Given the description of an element on the screen output the (x, y) to click on. 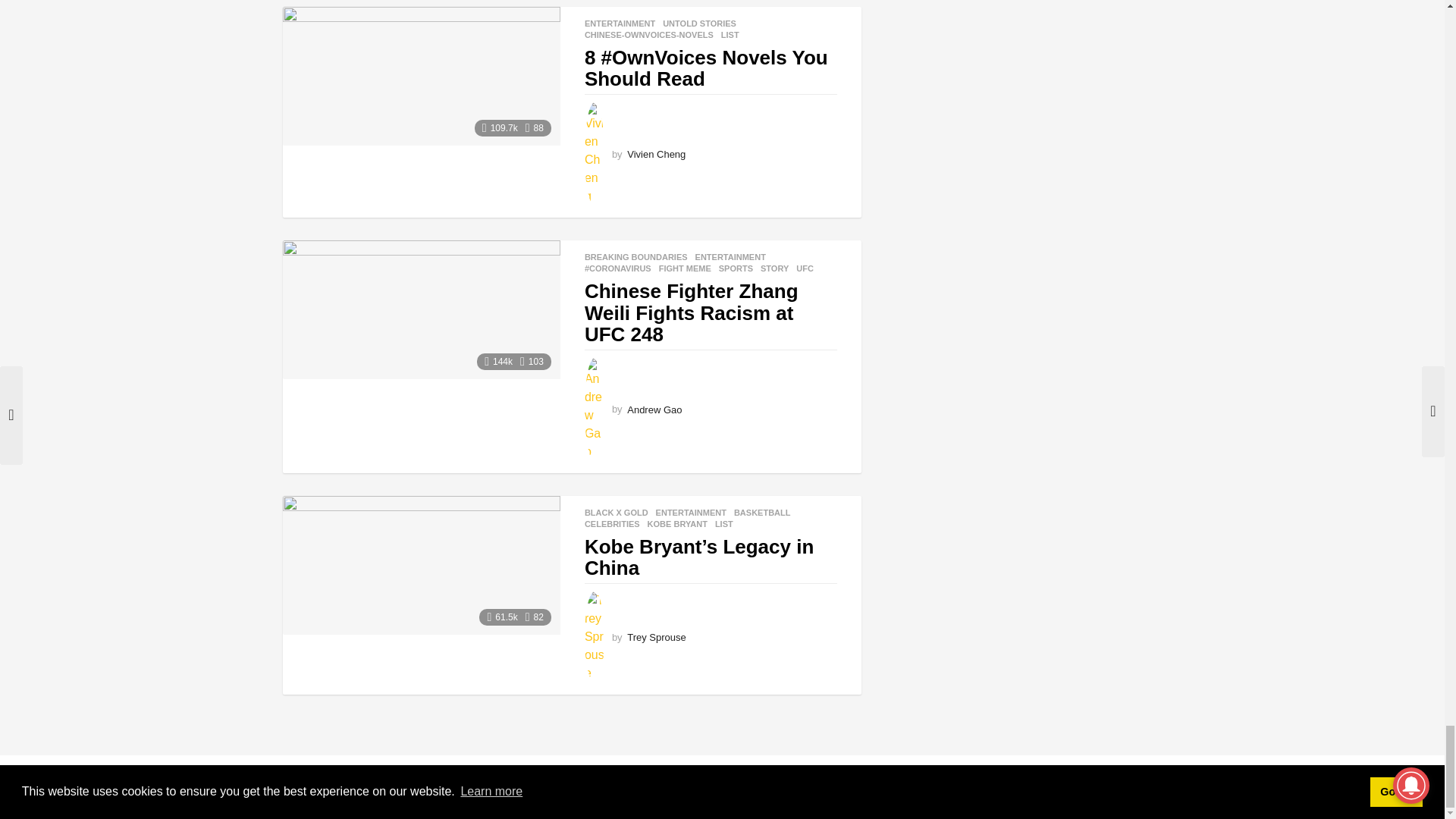
Chinese Fighter Zhang Weili Fights Racism at UFC 248 (420, 309)
